Given the description of an element on the screen output the (x, y) to click on. 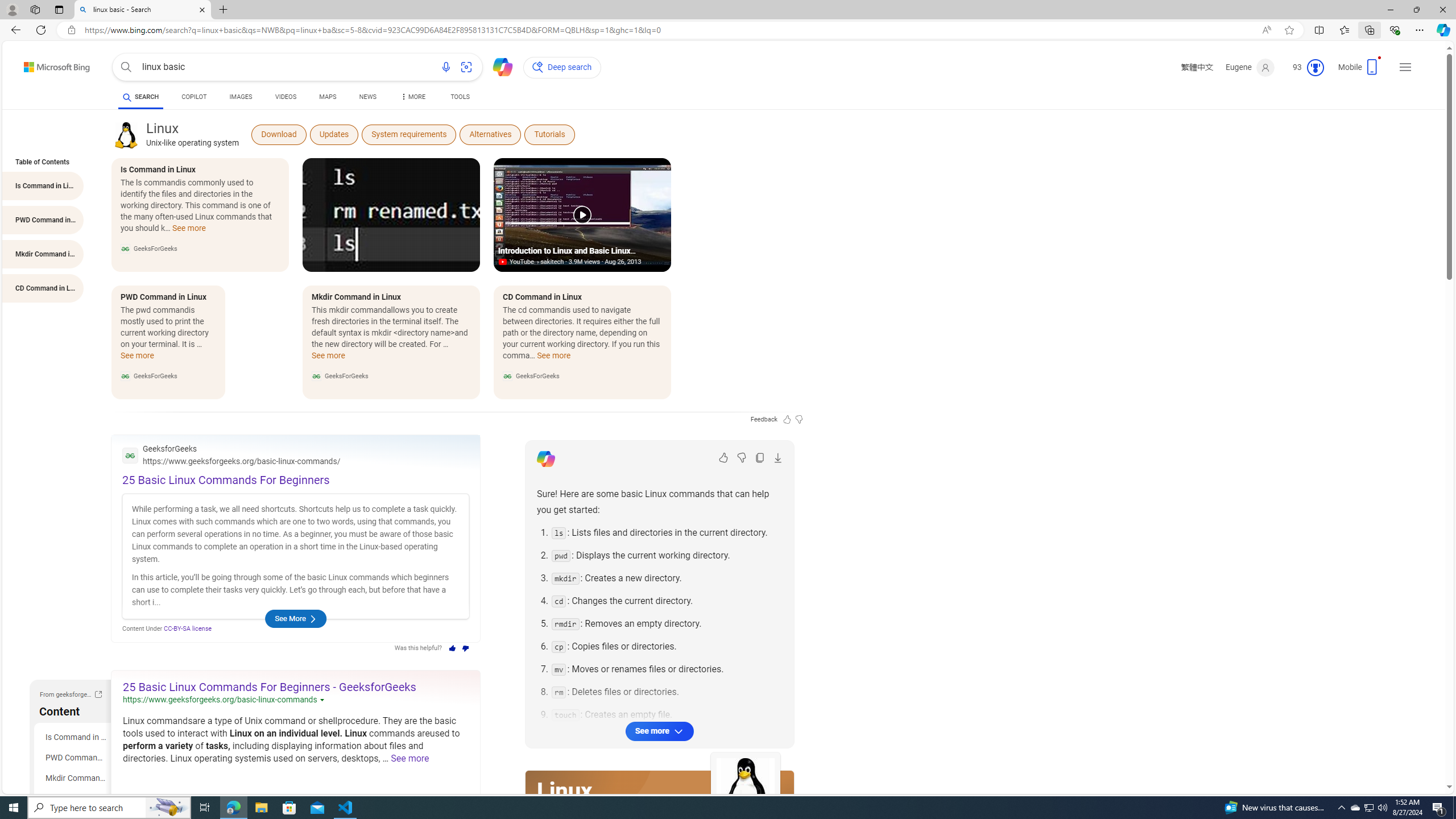
Introduction to Linux and Basic Linux Commands for Beginners (582, 214)
See more PWD Command in Linux (137, 358)
Class: medal-circled (1315, 67)
Mobile (1360, 70)
Is Command in Linux (74, 737)
Thumbs up (451, 648)
See More (295, 618)
Settings and quick links (1404, 67)
Chat (497, 65)
See more images of Linux (745, 788)
Linux (564, 791)
